Given the description of an element on the screen output the (x, y) to click on. 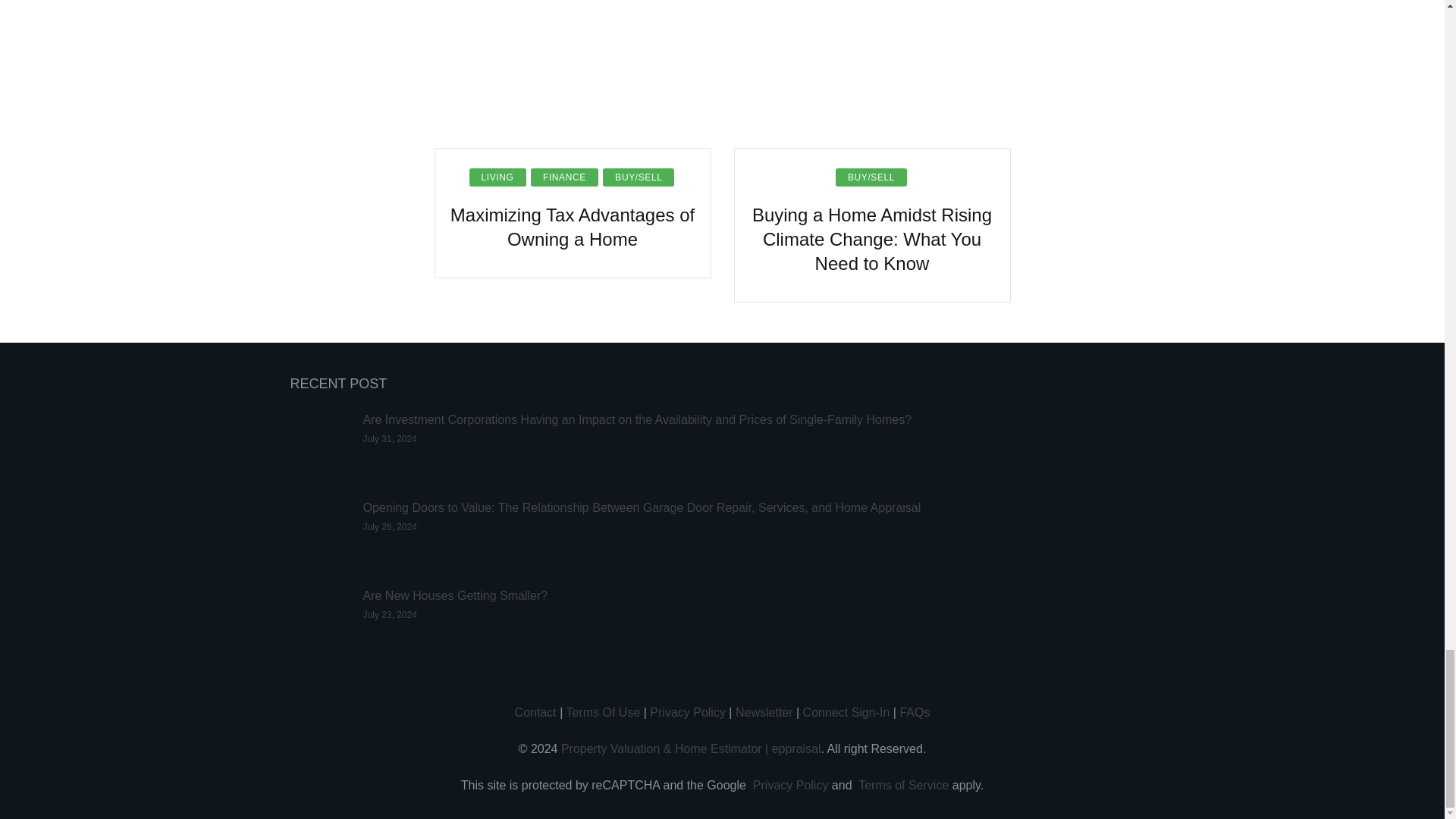
Are New Houses Getting Smaller? (454, 594)
July 31, 2024 (389, 439)
July 26, 2024 (389, 526)
Maximizing Tax Advantages of Owning a Home (572, 227)
July 23, 2024 (389, 614)
FINANCE (564, 177)
LIVING (496, 177)
